Given the description of an element on the screen output the (x, y) to click on. 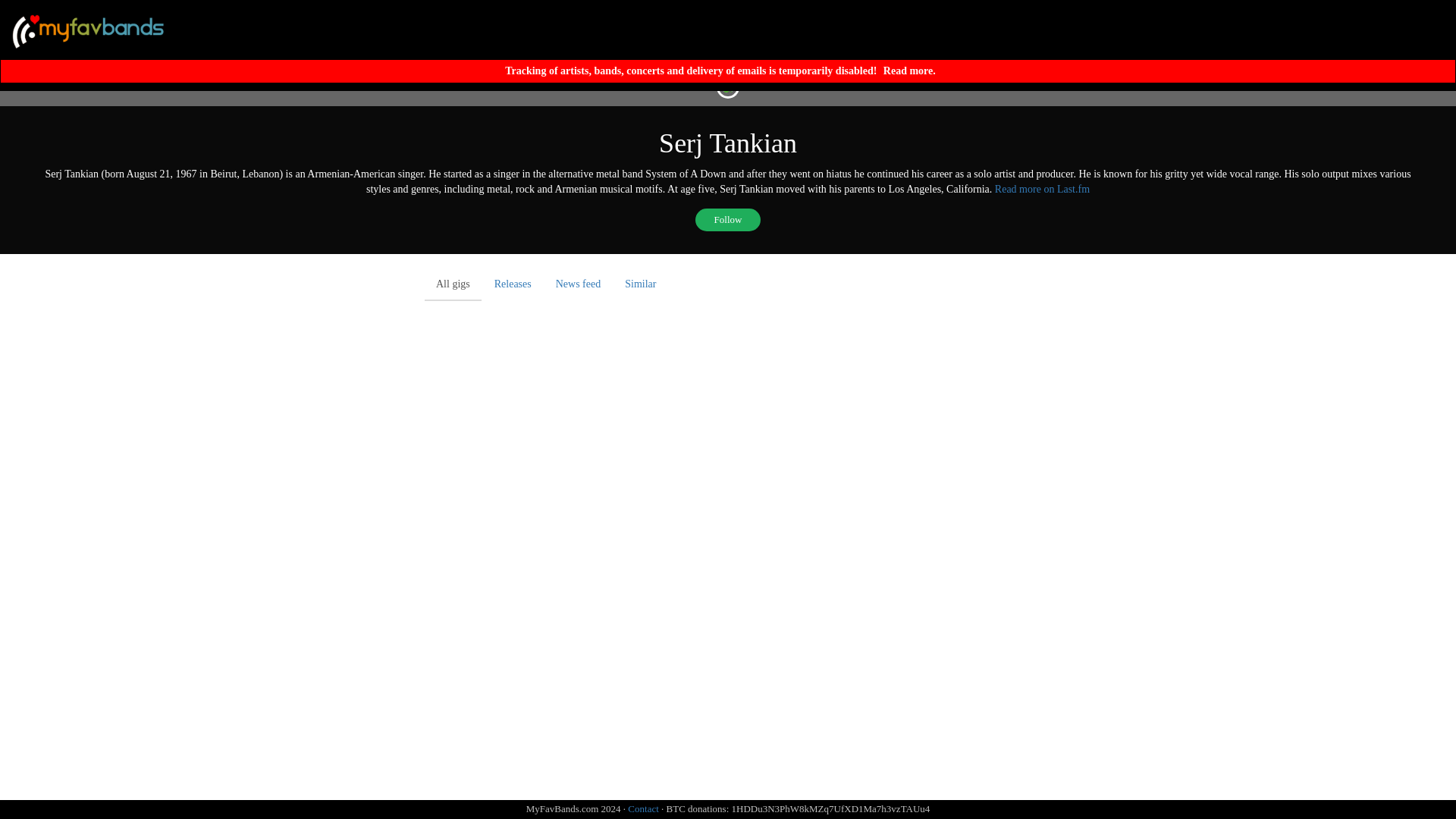
Contact (642, 808)
Read more on Last.fm (1041, 188)
Similar (639, 284)
Read more. (909, 70)
News feed (577, 284)
All gigs (453, 285)
Follow (728, 219)
Releases (513, 284)
